Given the description of an element on the screen output the (x, y) to click on. 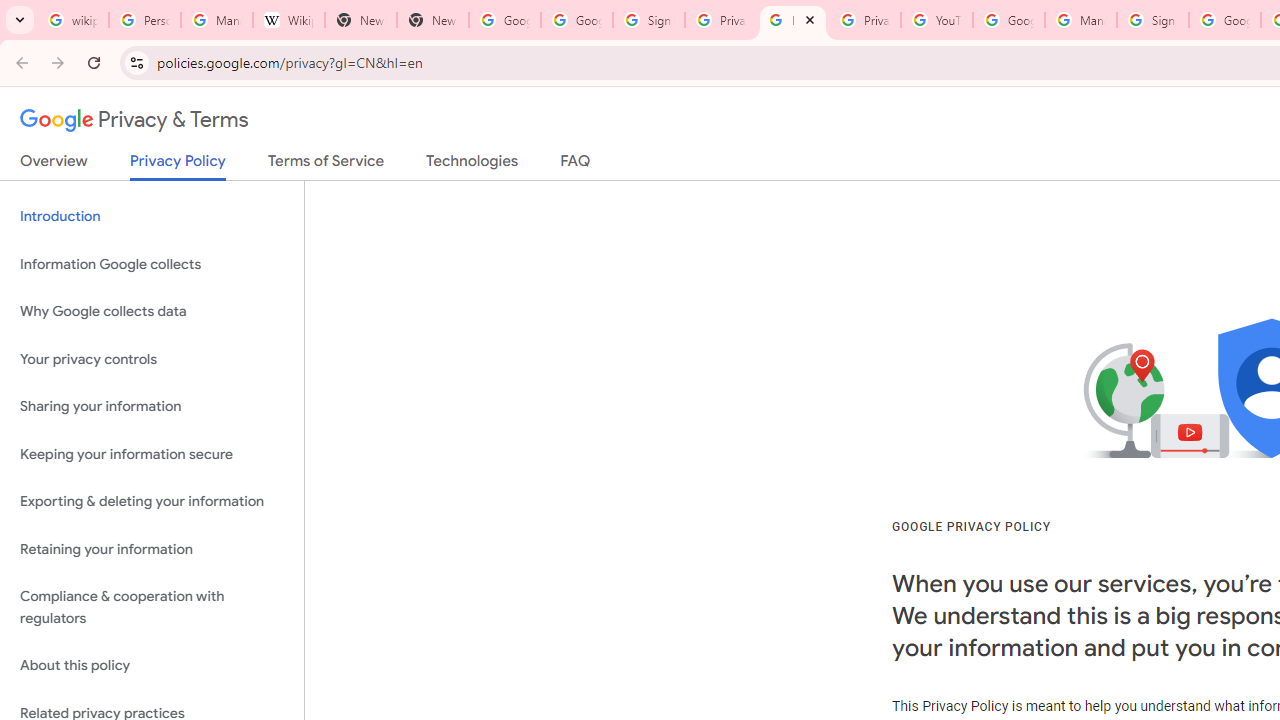
Personalization & Google Search results - Google Search Help (144, 20)
New Tab (360, 20)
Why Google collects data (152, 312)
Keeping your information secure (152, 453)
New Tab (432, 20)
Privacy & Terms (134, 120)
Terms of Service (326, 165)
Manage your Location History - Google Search Help (216, 20)
FAQ (575, 165)
Information Google collects (152, 263)
